Given the description of an element on the screen output the (x, y) to click on. 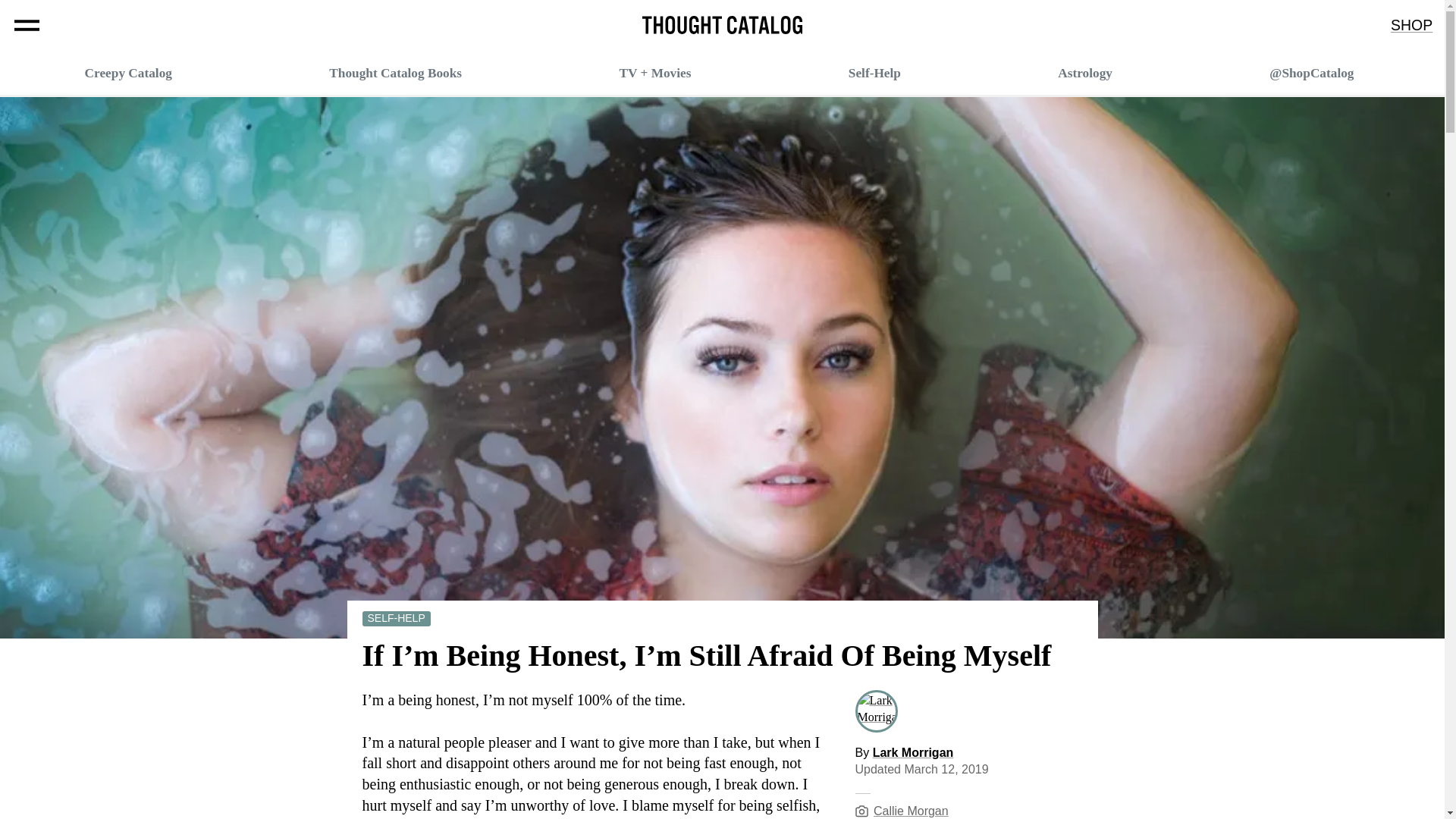
Astrology (1085, 73)
Self-Help (874, 73)
Callie Morgan (911, 810)
SELF-HELP (396, 617)
Lark Morrigan (912, 752)
Lark Morrigan (876, 707)
SHOP (1411, 25)
Thought Catalog Books (395, 73)
Creepy Catalog (127, 73)
Lark Morrigan (912, 752)
